Given the description of an element on the screen output the (x, y) to click on. 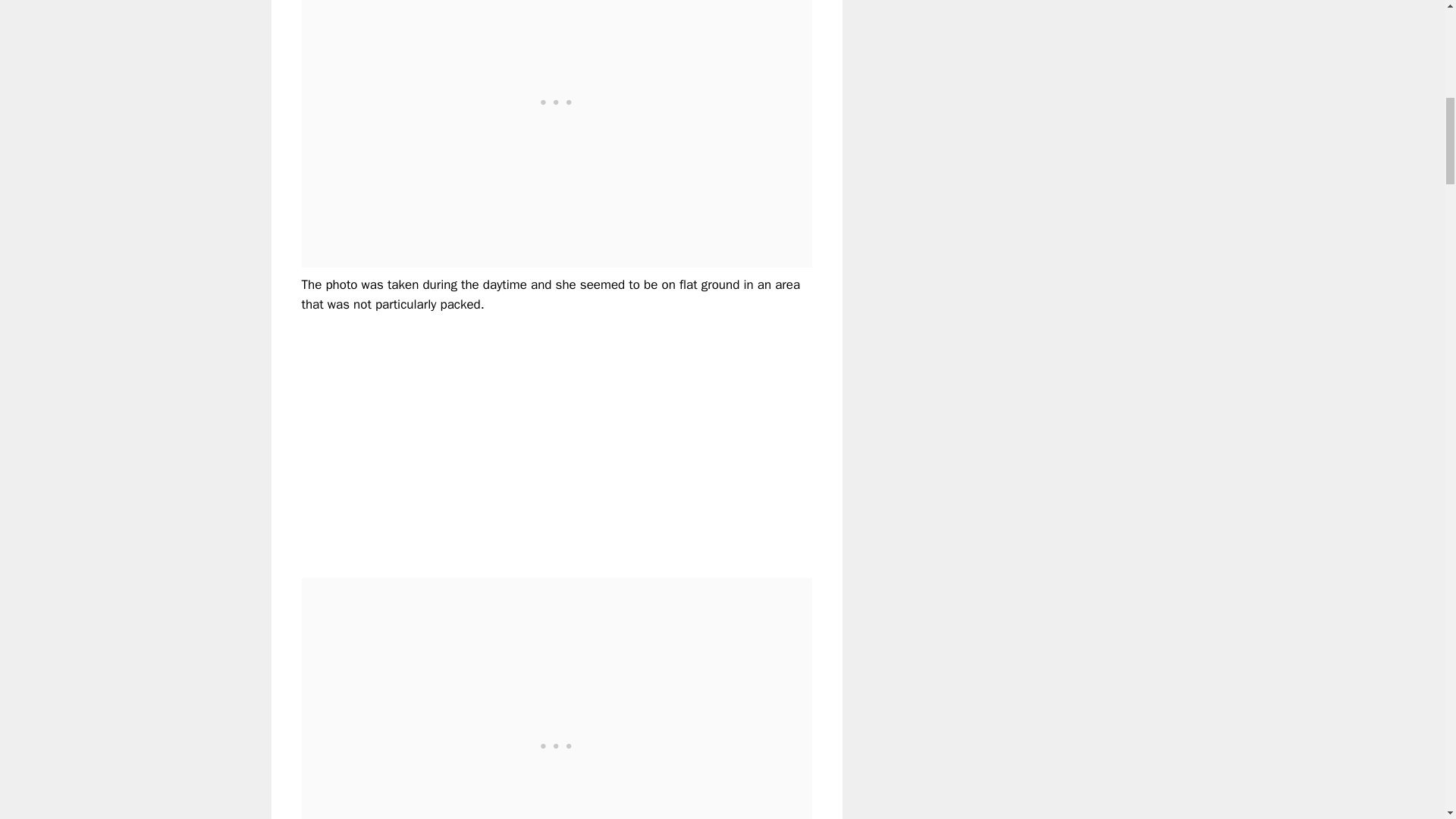
YouTube video player (513, 432)
